Given the description of an element on the screen output the (x, y) to click on. 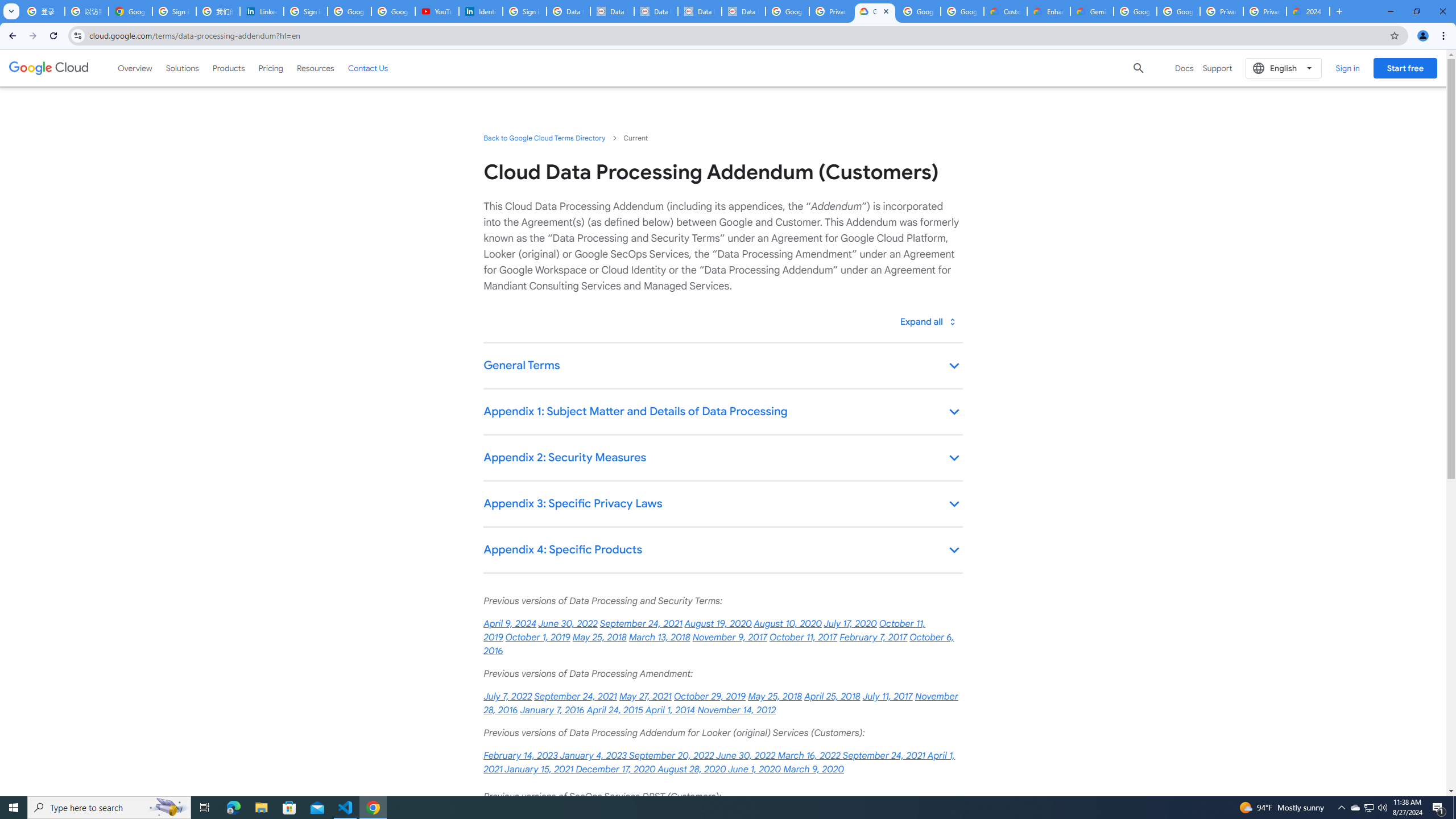
Sign in - Google Accounts (305, 11)
February 7, 2017 (873, 637)
Data Privacy Framework (612, 11)
August 19, 2020 (717, 623)
Contact Us (368, 67)
Gemini for Business and Developers | Google Cloud (1091, 11)
August 10, 2020 (788, 623)
October 11, 2019 (704, 630)
